Given the description of an element on the screen output the (x, y) to click on. 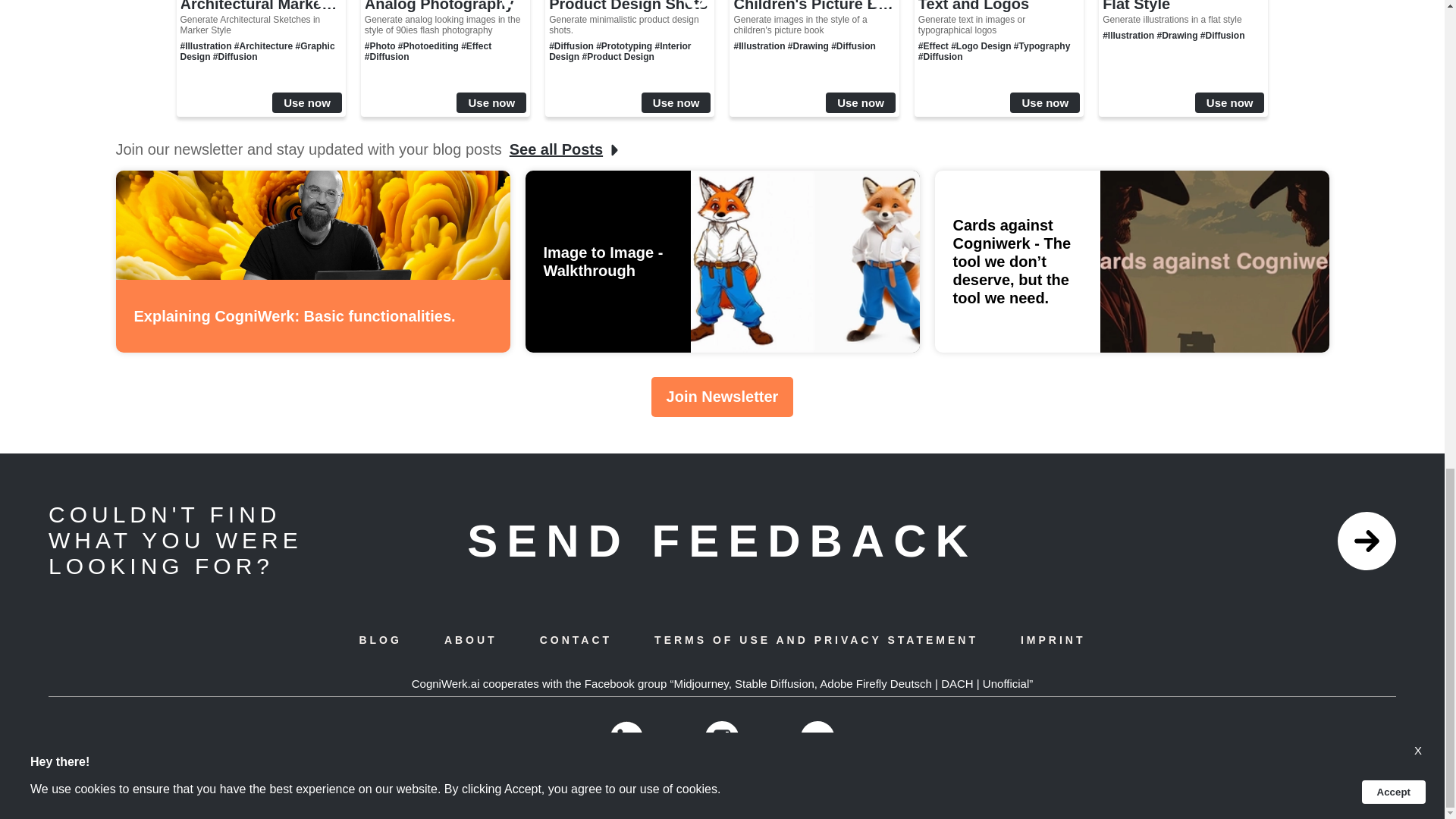
Ready To Use (512, 6)
Product Design Shots (629, 6)
Children's Picture Book (814, 6)
Architectural Marker Sketches (261, 6)
Ready To Use (882, 6)
Ready To Use (697, 6)
Ready To Use (328, 6)
Analog Photography (445, 6)
